Given the description of an element on the screen output the (x, y) to click on. 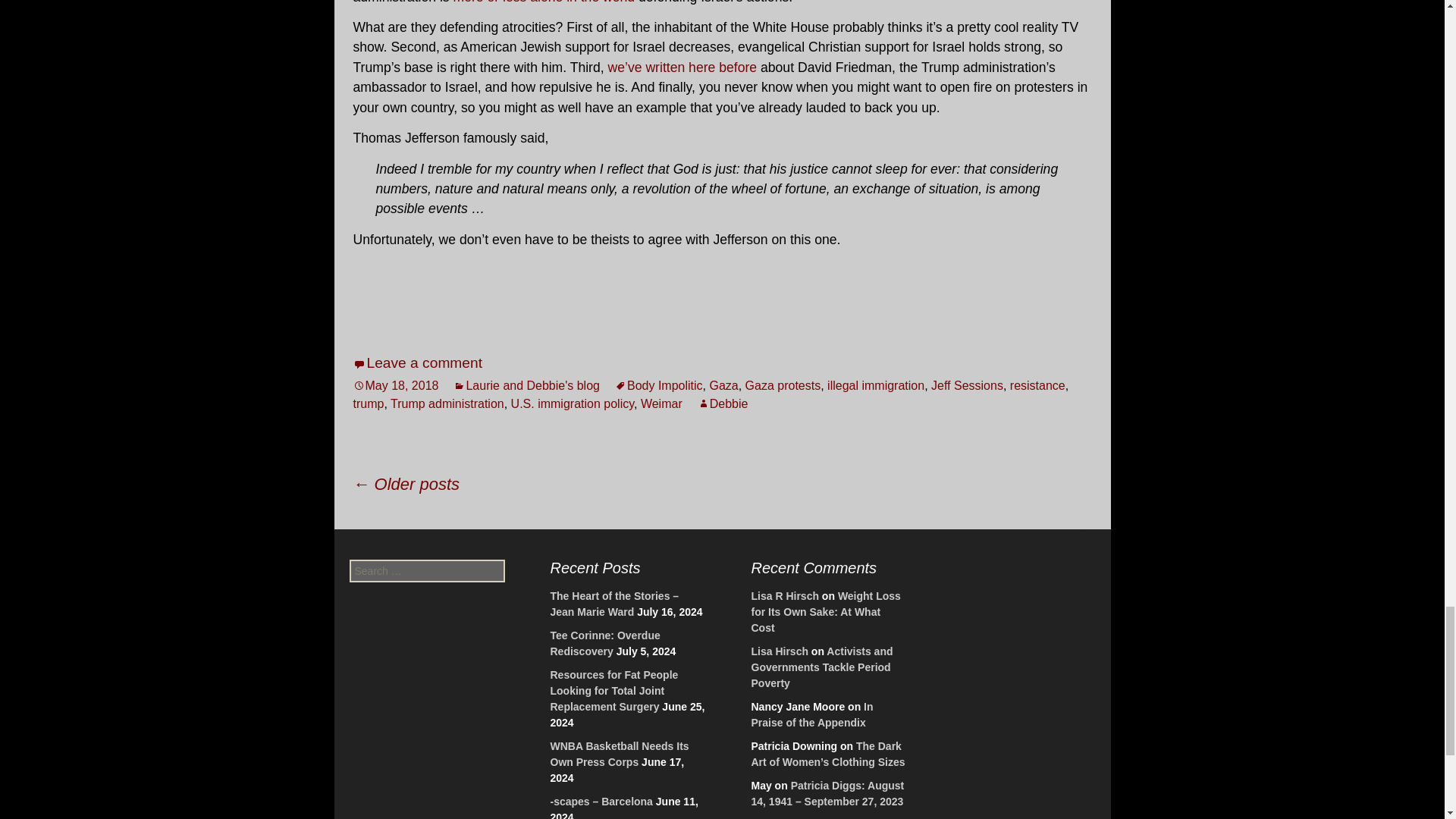
Permalink to Living in Weimar 8: Stark Days (396, 385)
View all posts by Debbie (722, 403)
